Given the description of an element on the screen output the (x, y) to click on. 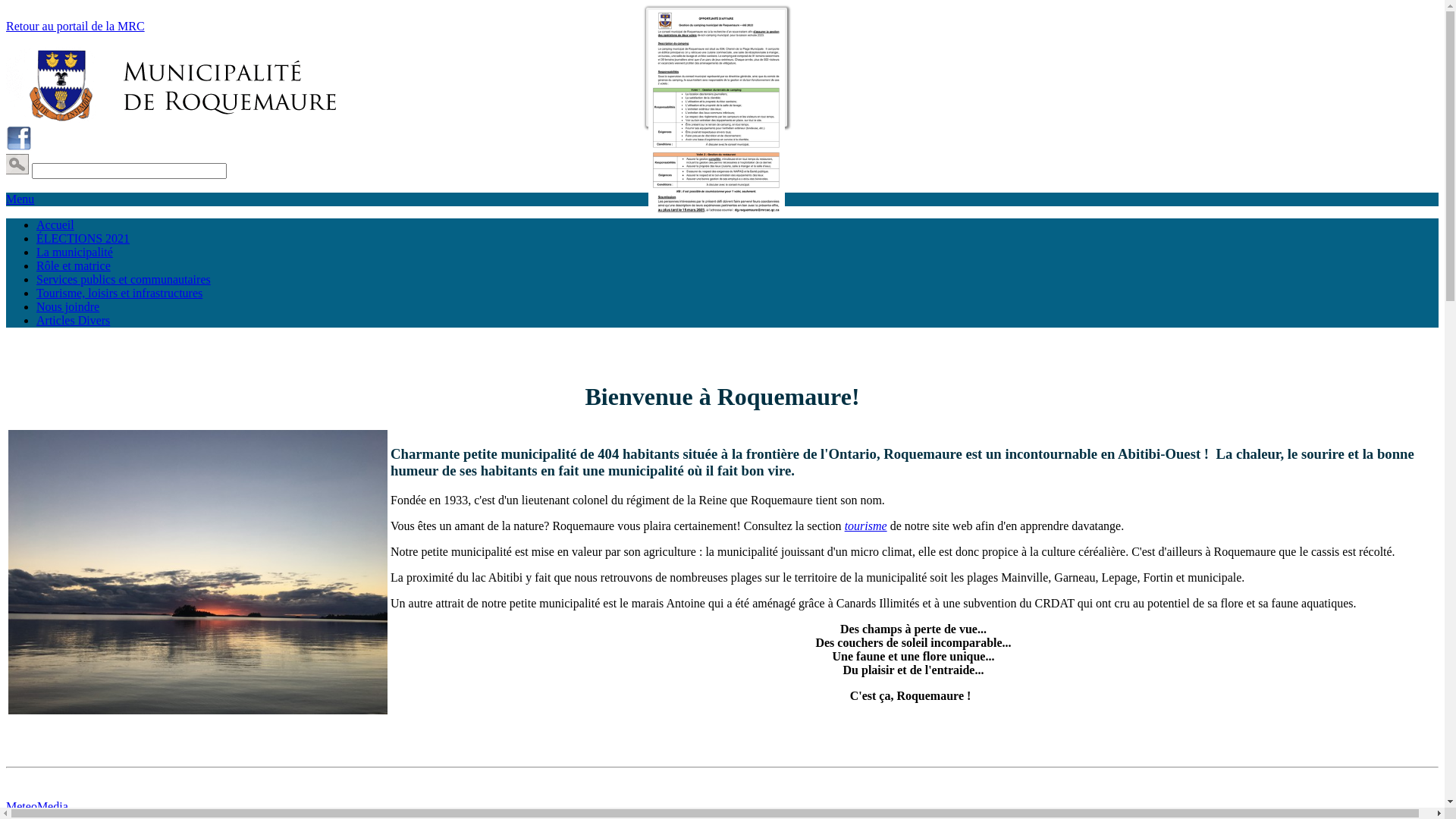
Services publics et communautaires Element type: text (123, 279)
Accueil Element type: text (55, 224)
Articles Divers Element type: text (72, 319)
Menu Element type: text (20, 198)
Nous joindre Element type: text (67, 306)
tourisme Element type: text (865, 525)
Tourisme, loisirs et infrastructures Element type: text (119, 292)
Retour au portail de la MRC Element type: text (75, 25)
MeteoMedia Element type: text (37, 806)
